Given the description of an element on the screen output the (x, y) to click on. 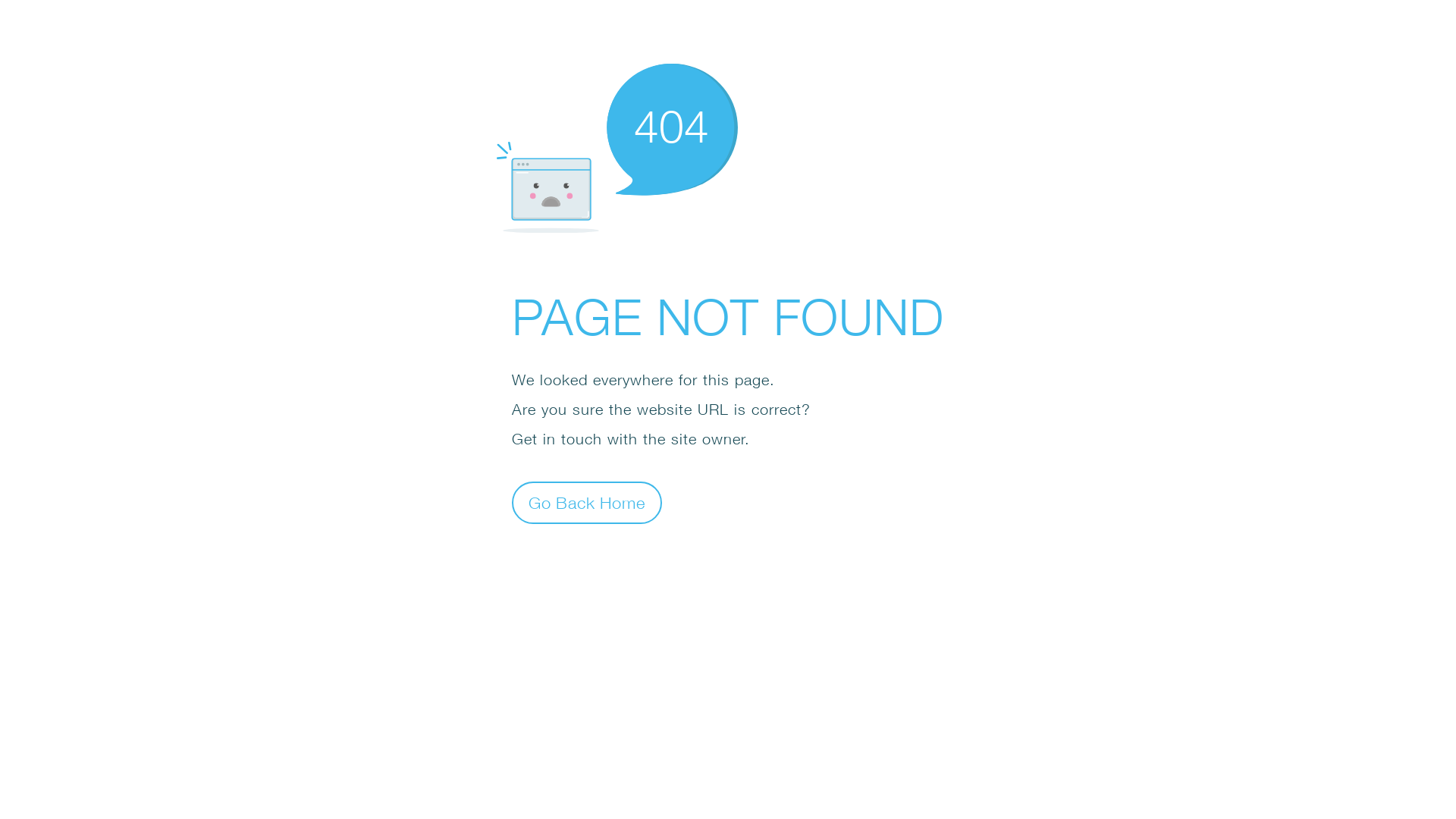
Go Back Home Element type: text (586, 502)
